Given the description of an element on the screen output the (x, y) to click on. 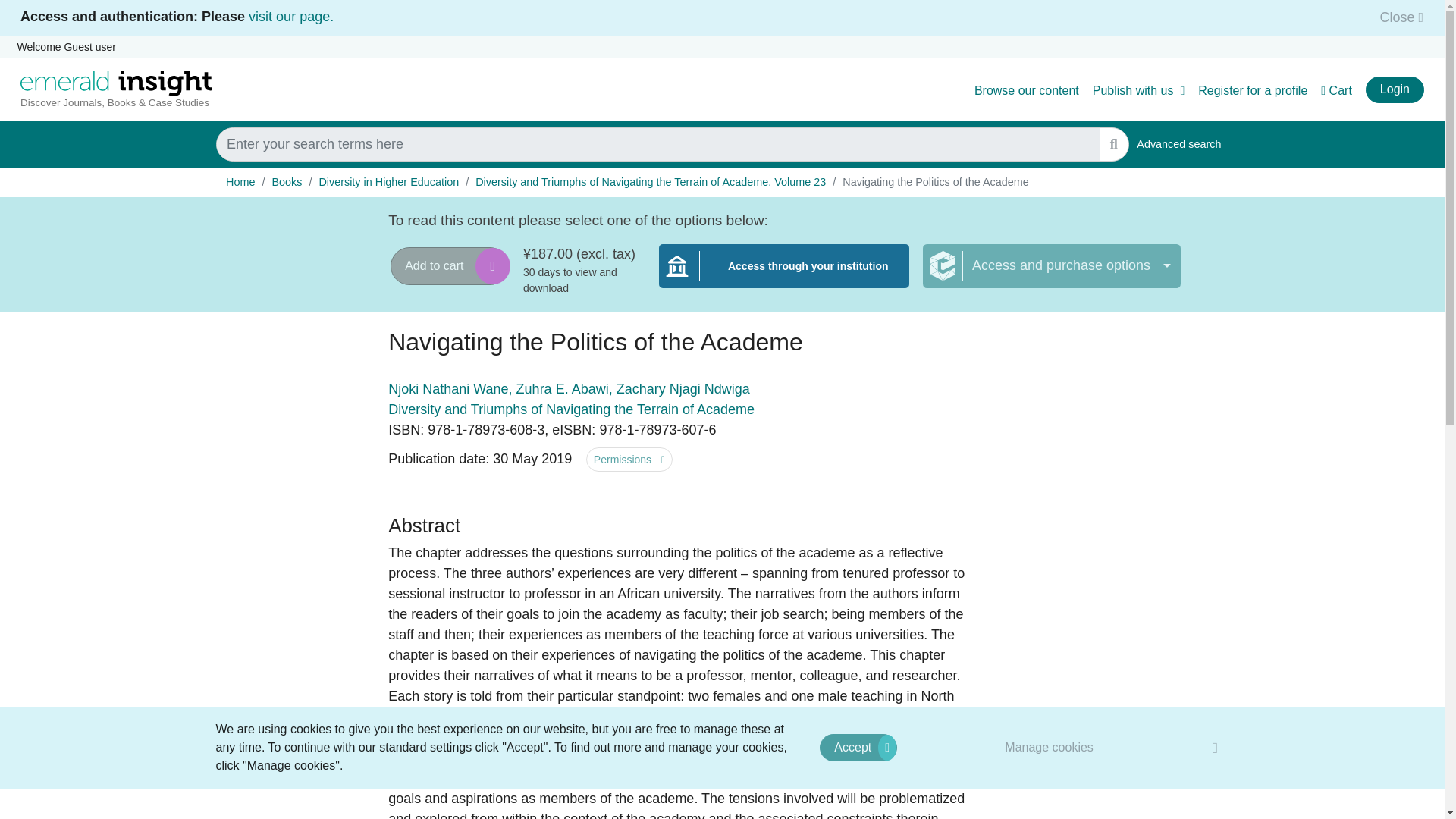
Register for a profile (1252, 90)
Cart (1336, 90)
Books (285, 182)
Publish with us (1139, 90)
Access through your institution (783, 275)
Close (1397, 17)
